Given the description of an element on the screen output the (x, y) to click on. 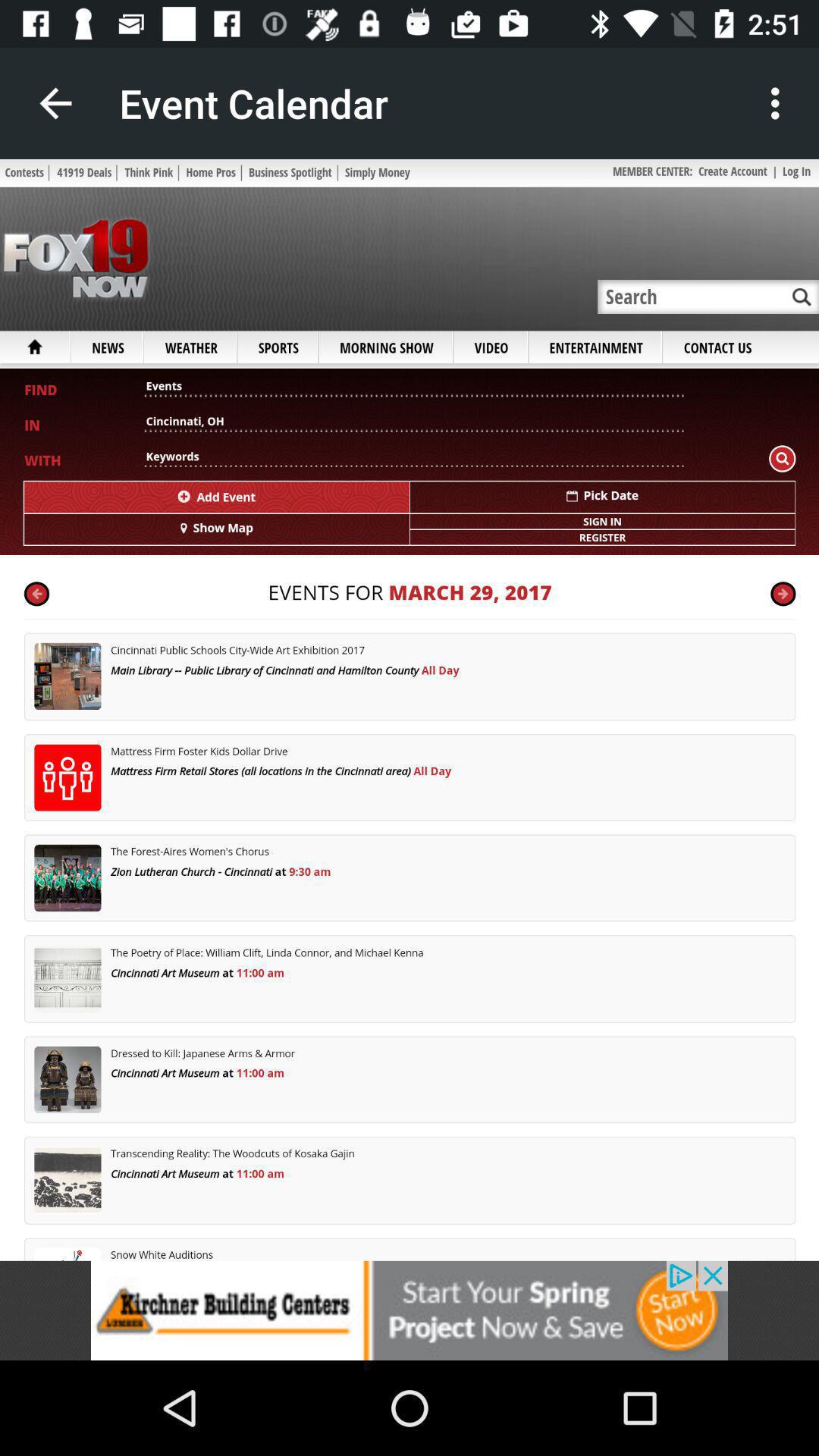
go to advertisement (409, 1310)
